Given the description of an element on the screen output the (x, y) to click on. 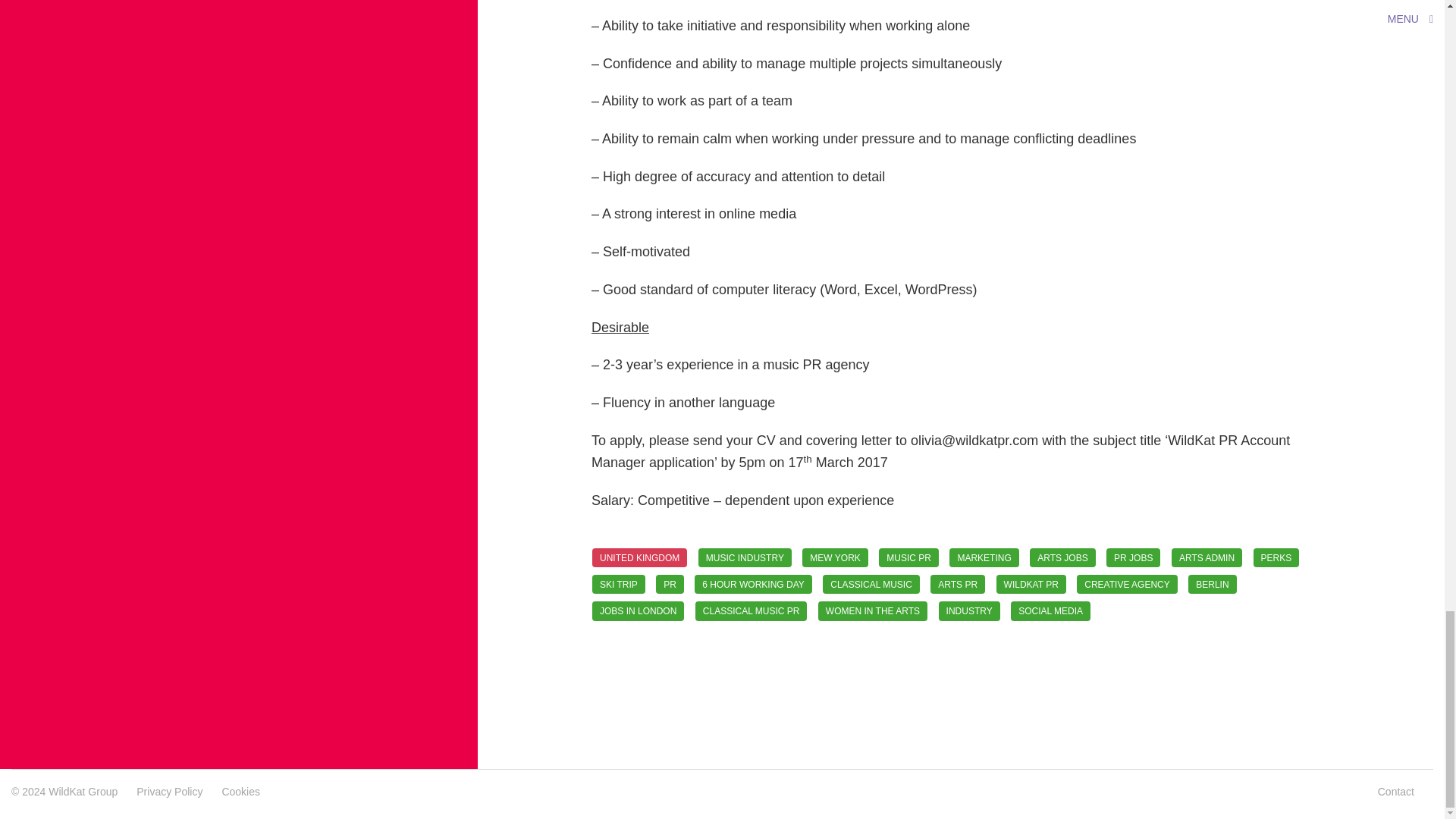
WILDKAT PR (1030, 583)
PR JOBS (1133, 557)
6 HOUR WORKING DAY (752, 583)
WOMEN IN THE ARTS (872, 610)
SOCIAL MEDIA (1050, 610)
CREATIVE AGENCY (1126, 583)
Privacy Policy (169, 791)
MEW YORK (834, 557)
BERLIN (1212, 583)
MARKETING (983, 557)
INDUSTRY (969, 610)
SKI TRIP (618, 583)
JOBS IN LONDON (638, 610)
CLASSICAL MUSIC PR (751, 610)
PERKS (1275, 557)
